Given the description of an element on the screen output the (x, y) to click on. 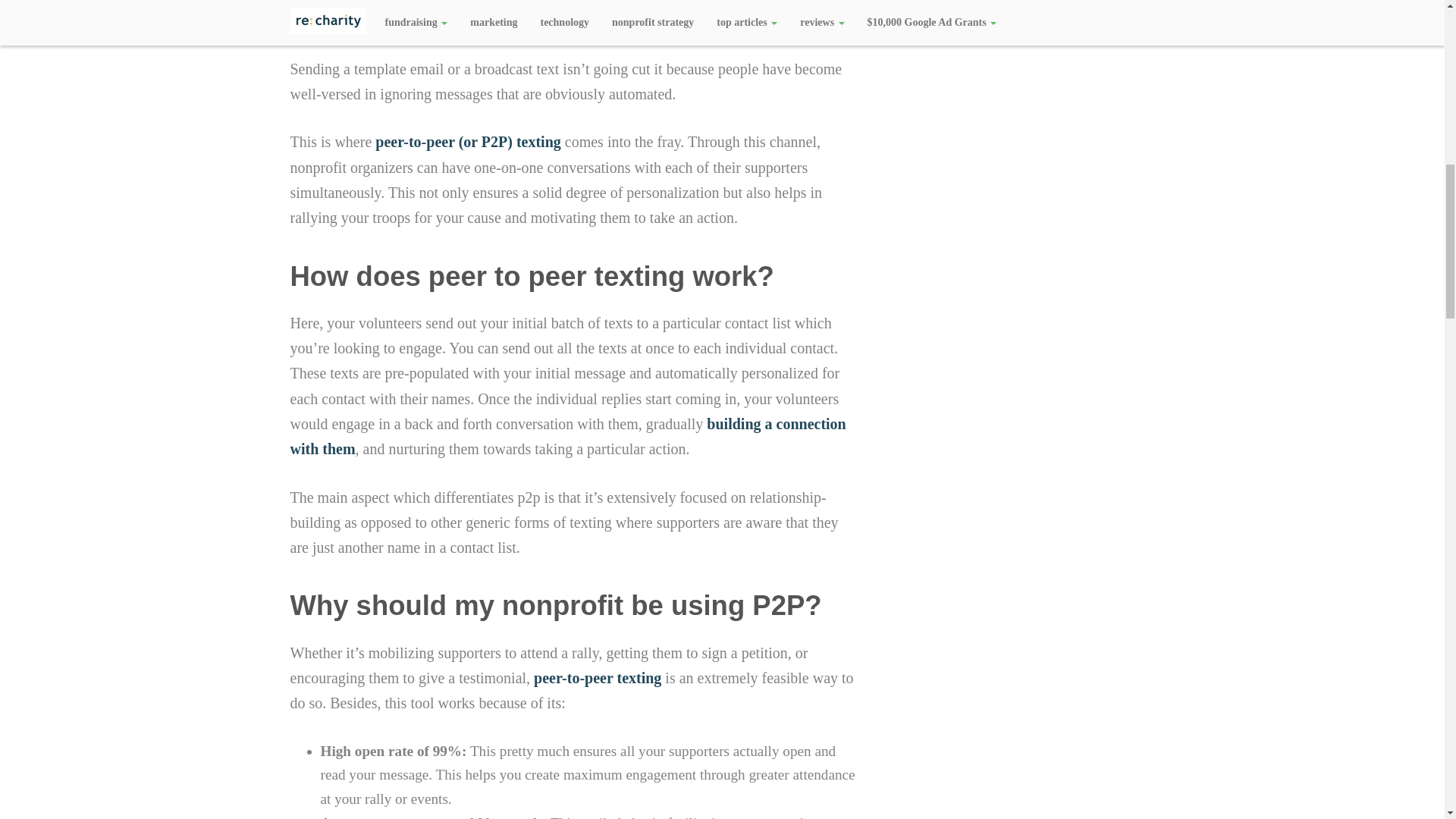
building a connection with them (567, 436)
mobilize them into taking an action (429, 20)
peer-to-peer texting (597, 677)
